Given the description of an element on the screen output the (x, y) to click on. 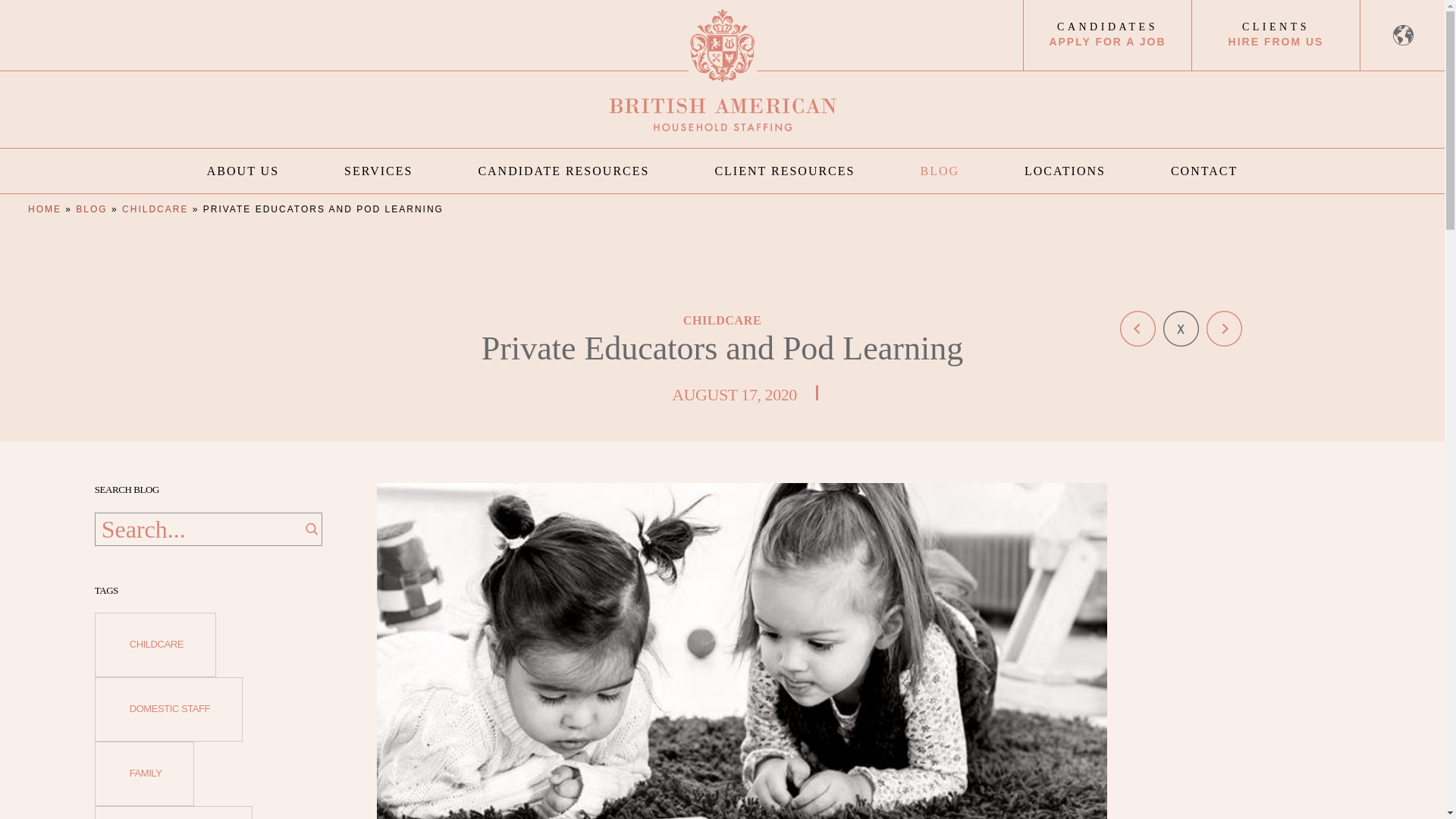
BLOG (939, 171)
CLIENT RESOURCES (784, 171)
LOCATIONS (1065, 171)
APPLY FOR A JOB (1107, 41)
SERVICES (377, 171)
CANDIDATE RESOURCES (563, 171)
HIRE FROM US (1275, 41)
ABOUT US (242, 171)
